Given the description of an element on the screen output the (x, y) to click on. 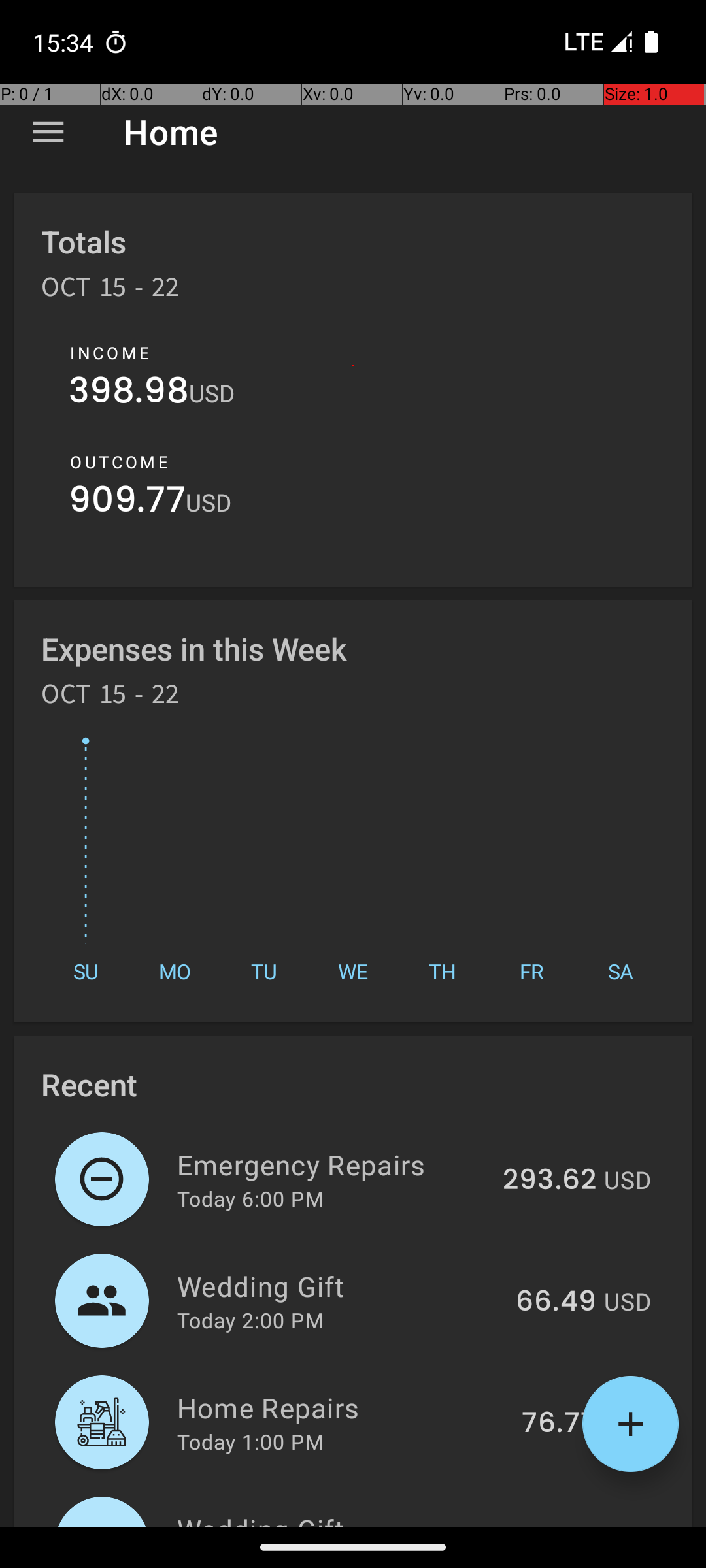
398.98 Element type: android.widget.TextView (128, 393)
909.77 Element type: android.widget.TextView (126, 502)
Emergency Repairs Element type: android.widget.TextView (332, 1164)
Today 6:00 PM Element type: android.widget.TextView (250, 1198)
293.62 Element type: android.widget.TextView (549, 1180)
Wedding Gift Element type: android.widget.TextView (338, 1285)
Today 2:00 PM Element type: android.widget.TextView (250, 1320)
66.49 Element type: android.widget.TextView (555, 1301)
Home Repairs Element type: android.widget.TextView (341, 1407)
Today 1:00 PM Element type: android.widget.TextView (250, 1441)
76.77 Element type: android.widget.TextView (558, 1423)
431.54 Element type: android.widget.TextView (550, 1524)
